Given the description of an element on the screen output the (x, y) to click on. 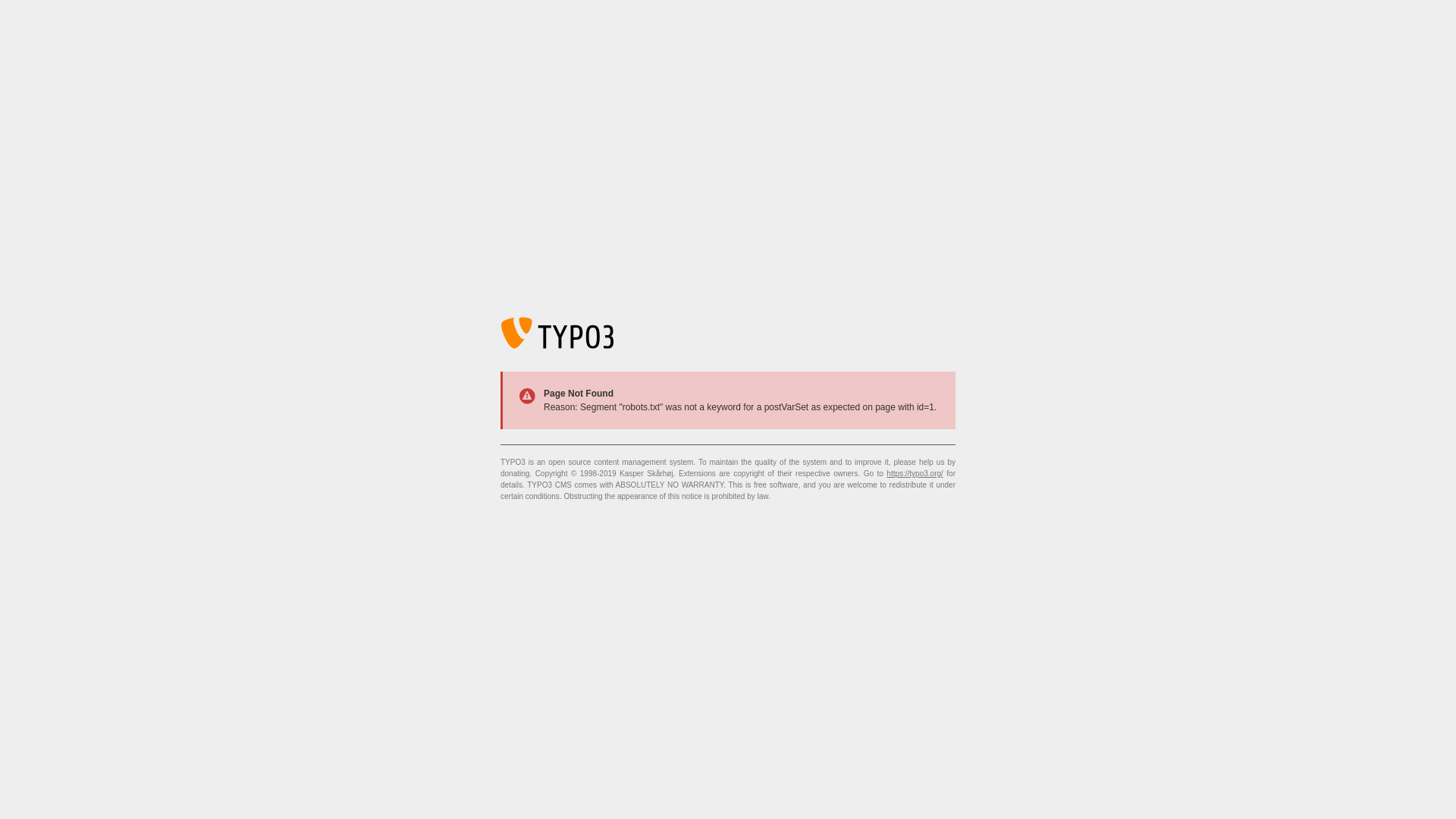
https://typo3.org/ Element type: text (914, 473)
